Given the description of an element on the screen output the (x, y) to click on. 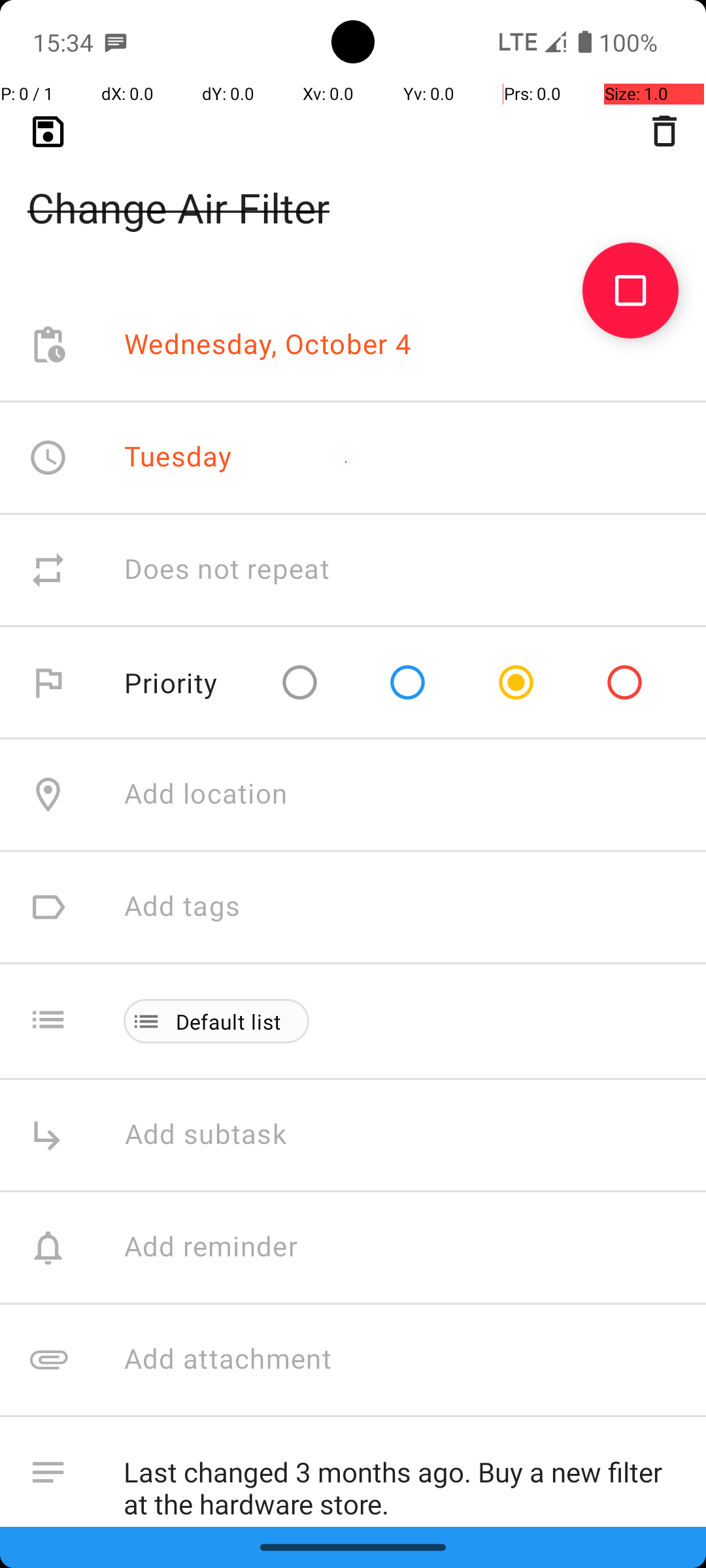
Last changed 3 months ago. Buy a new filter at the hardware store. Element type: android.widget.EditText (400, 1481)
Wednesday, October 4 Element type: android.widget.TextView (267, 344)
